Given the description of an element on the screen output the (x, y) to click on. 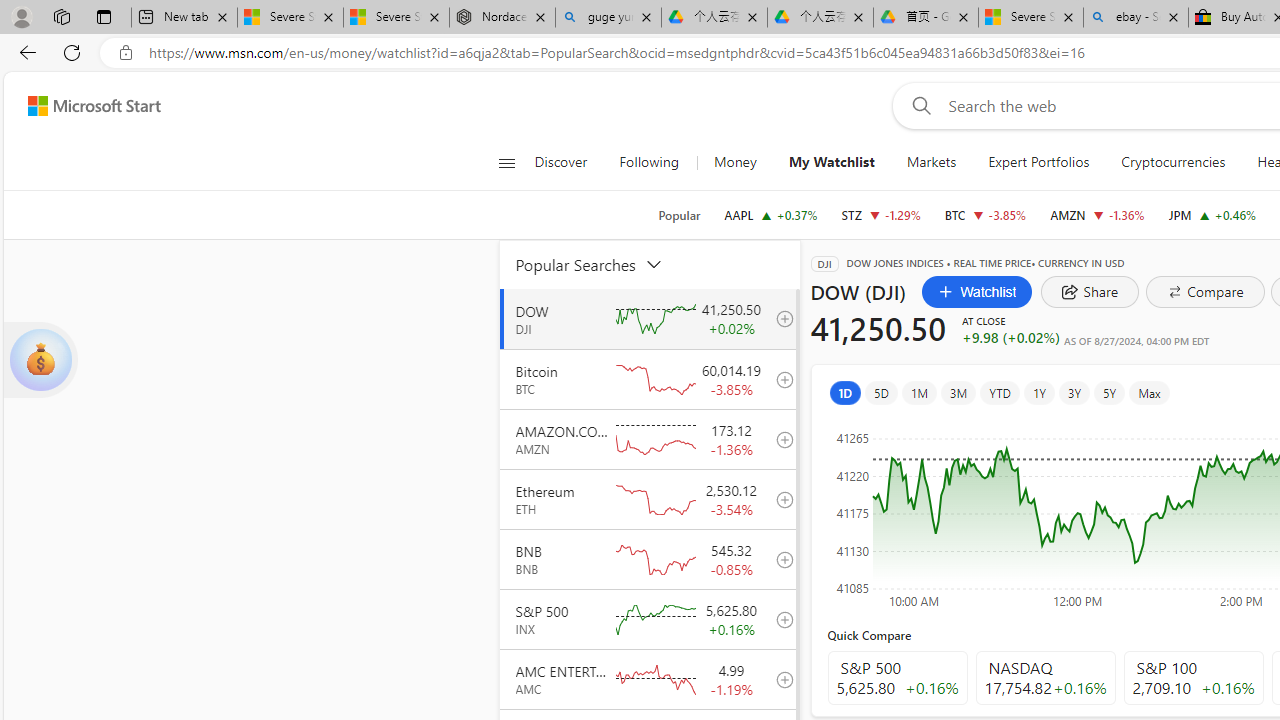
show card (40, 359)
My Watchlist (831, 162)
Max (1148, 392)
Money (734, 162)
5D (881, 392)
1M (919, 392)
Skip to content (86, 105)
5Y (1110, 392)
Money (735, 162)
YTD (1000, 392)
